Given the description of an element on the screen output the (x, y) to click on. 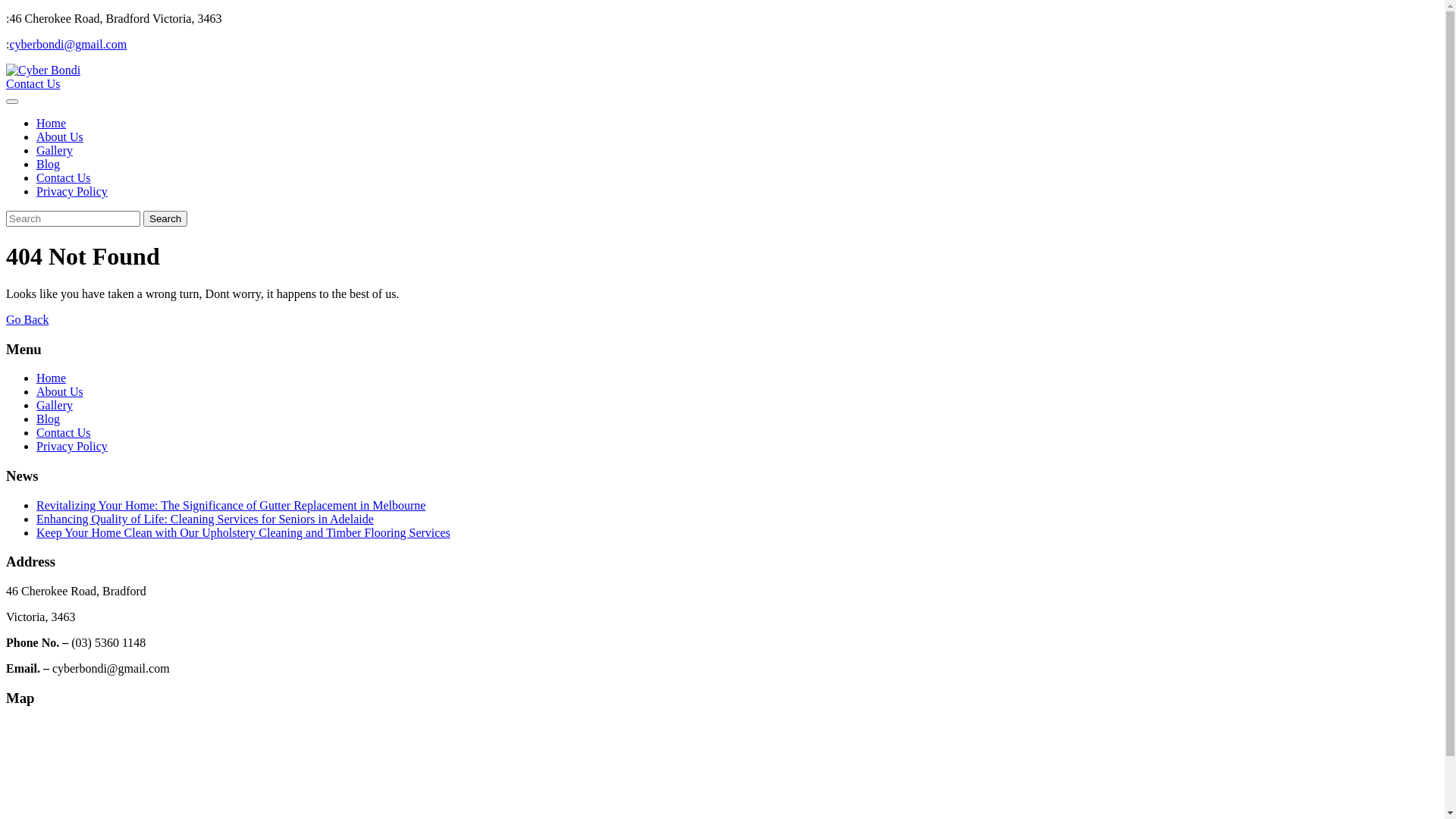
Home Element type: text (50, 377)
Contact Us
Appointment Button Element type: text (33, 83)
Blog Element type: text (47, 163)
Gallery Element type: text (54, 404)
Gallery Element type: text (54, 150)
About Us Element type: text (59, 391)
Home Element type: text (50, 122)
Contact Us Element type: text (63, 432)
Blog Element type: text (47, 418)
Search Element type: text (165, 218)
Privacy Policy Element type: text (71, 191)
Skip to content Element type: text (5, 11)
Contact Us Element type: text (63, 177)
Open Button Element type: text (12, 101)
cyberbondi@gmail.com Element type: text (67, 43)
Privacy Policy Element type: text (71, 445)
About Us Element type: text (59, 136)
Go Back
Go Back Element type: text (27, 319)
